Given the description of an element on the screen output the (x, y) to click on. 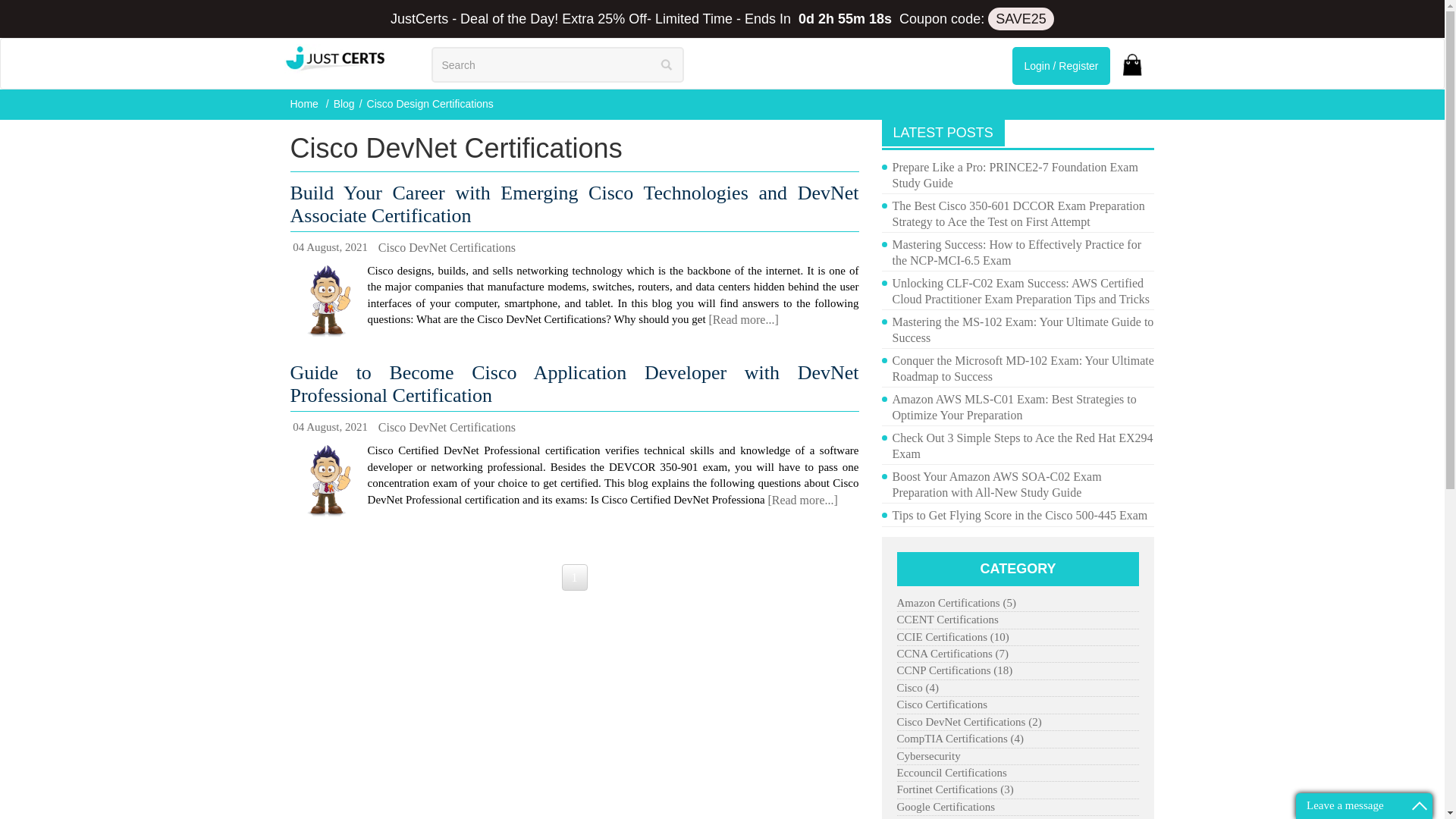
CCENT Certifications (946, 619)
Cybersecurity (927, 756)
Google Certifications (945, 806)
Eccouncil Certifications (951, 772)
Blog (344, 103)
Prepare Like a Pro: PRINCE2-7 Foundation Exam Study Guide (1022, 174)
Check Out 3 Simple Steps to Ace the Red Hat EX294 Exam (1022, 445)
Cisco DevNet Certifications (446, 426)
Cisco Certifications (941, 704)
1 (573, 577)
